Given the description of an element on the screen output the (x, y) to click on. 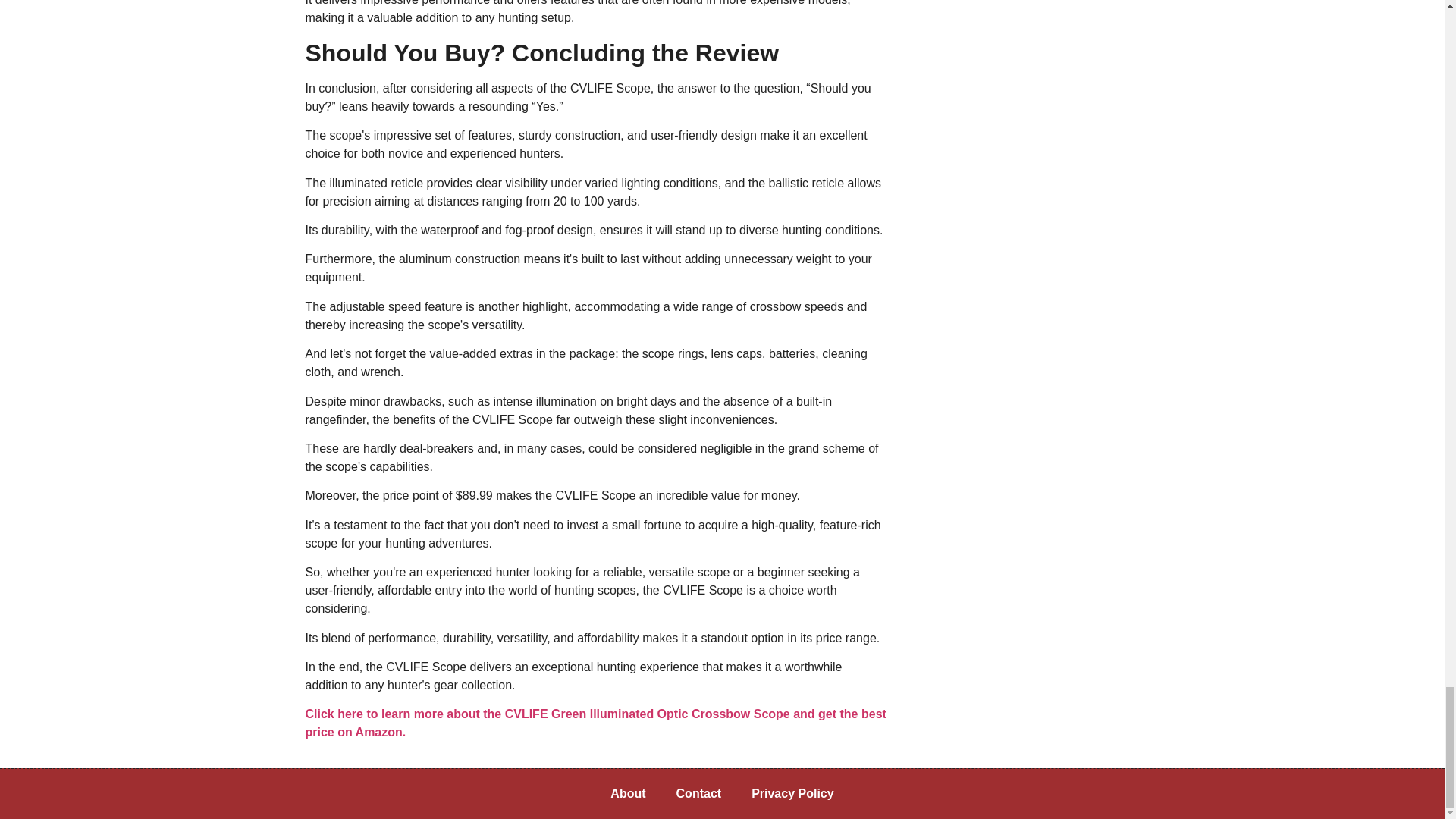
Privacy Policy (792, 793)
About (628, 793)
Contact (698, 793)
